Given the description of an element on the screen output the (x, y) to click on. 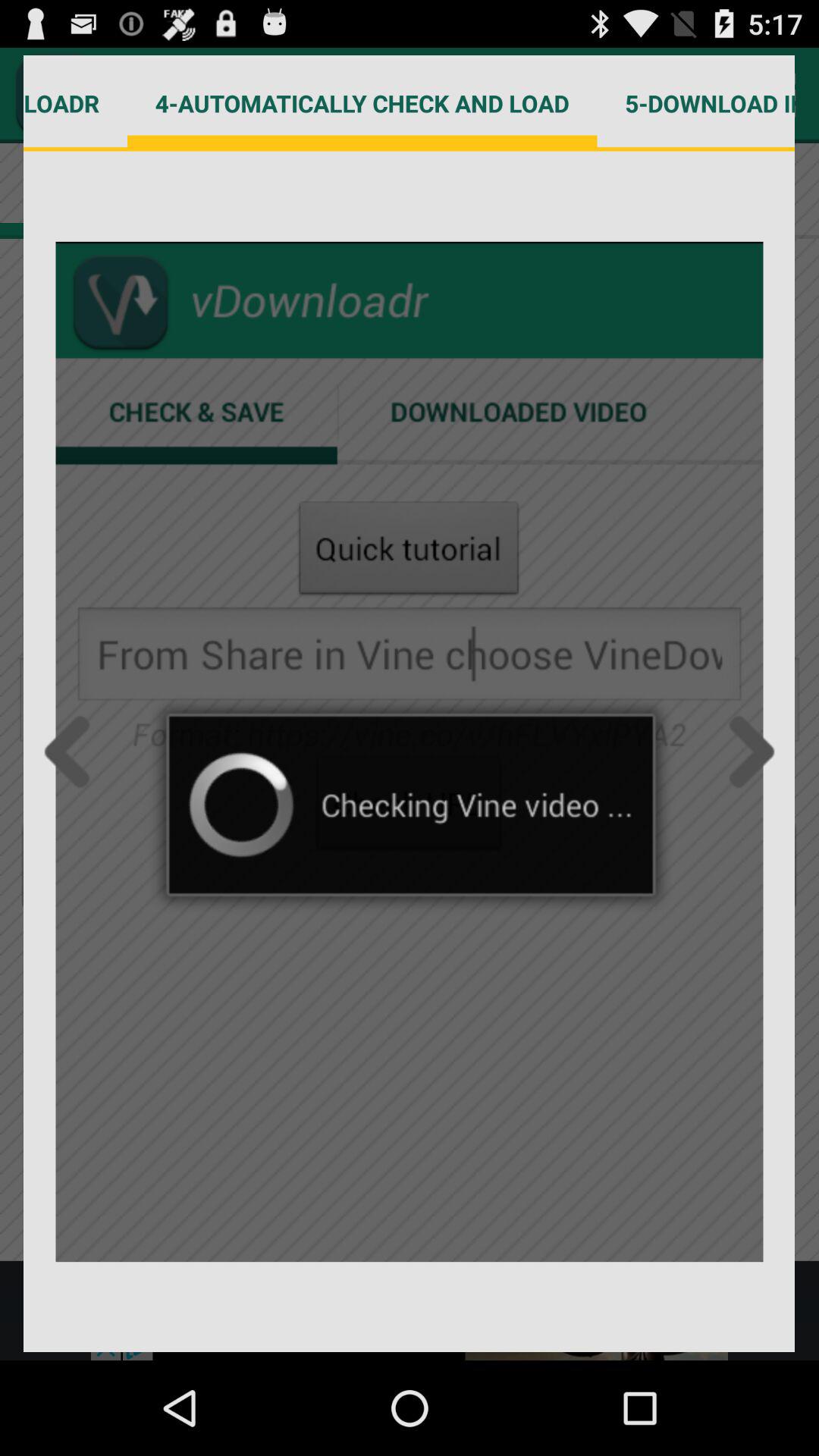
go to previous (71, 751)
